Given the description of an element on the screen output the (x, y) to click on. 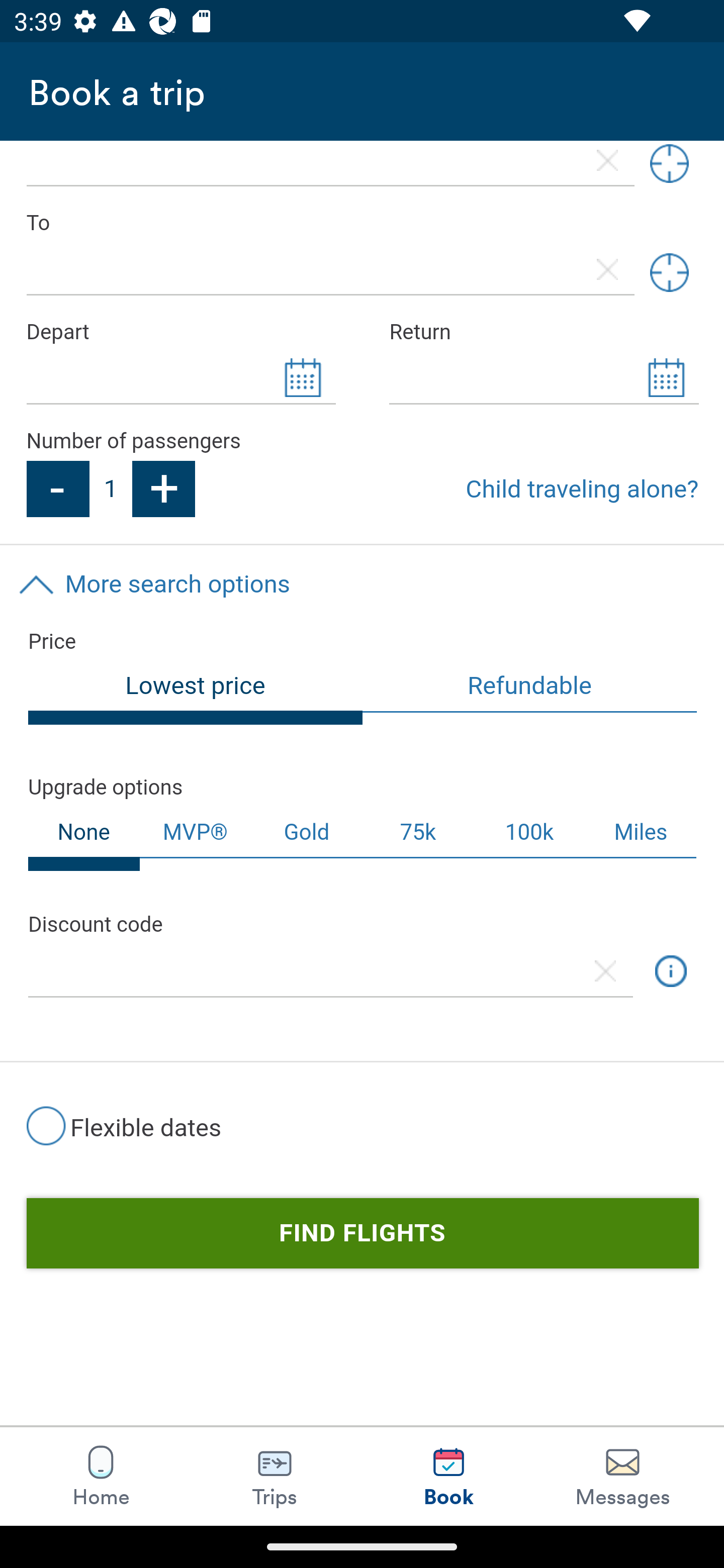
Geolocation (669, 166)
Geolocation (669, 272)
Depart (179, 331)
Return (544, 331)
- (56, 488)
+ (163, 488)
Child traveling alone? (582, 489)
More search options (362, 584)
Lowest price (196, 693)
Refundable (530, 687)
None (84, 838)
MVP® (195, 832)
Gold (306, 832)
75k (417, 832)
100k (528, 832)
Miles (641, 832)
Find Flights (362, 1233)
Home (100, 1475)
Trips (275, 1475)
Book (448, 1475)
Messages (622, 1475)
